Given the description of an element on the screen output the (x, y) to click on. 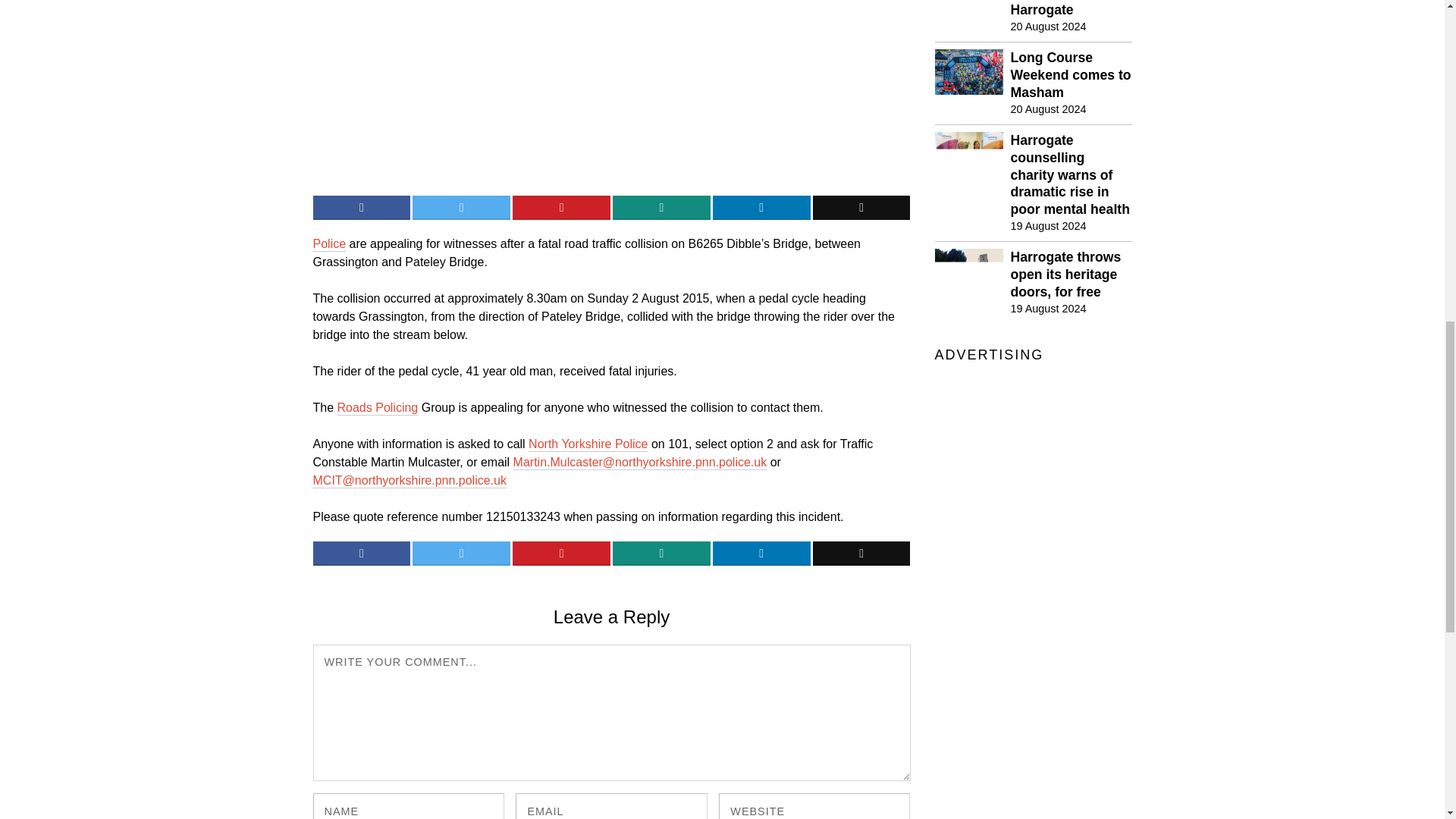
Police (329, 243)
Motorcyclist seriously injured in collision near Harrogate (1070, 9)
Roads Policing (378, 407)
Police (329, 243)
19 Aug, 2024 16:40:19 (1048, 225)
20 Aug, 2024 15:12:24 (1048, 26)
20 Aug, 2024 11:00:36 (1048, 109)
North Yorkshire Police (587, 443)
19 Aug, 2024 14:40:06 (1048, 308)
